Given the description of an element on the screen output the (x, y) to click on. 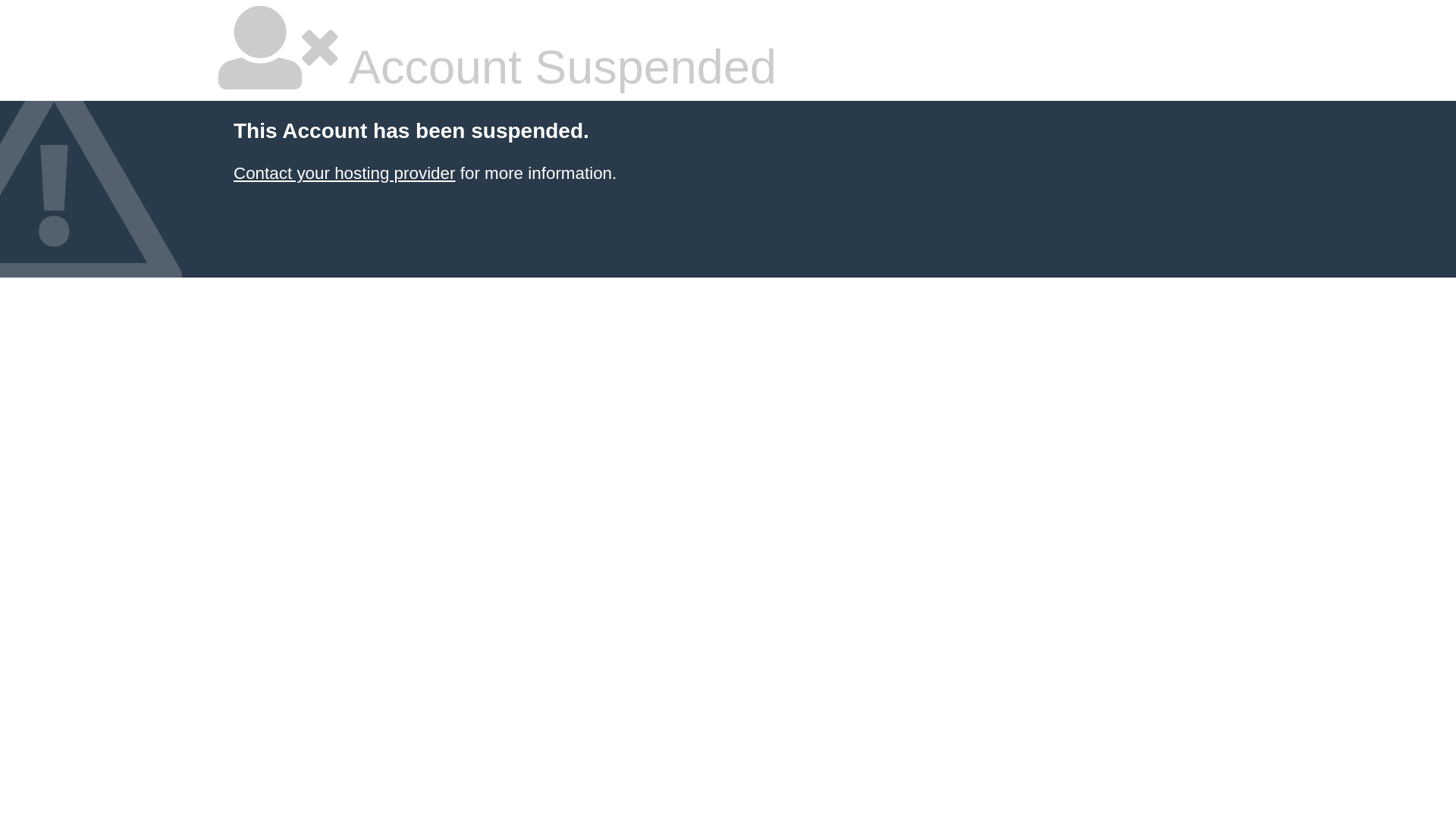
Contact your hosting provider Element type: text (344, 172)
